Given the description of an element on the screen output the (x, y) to click on. 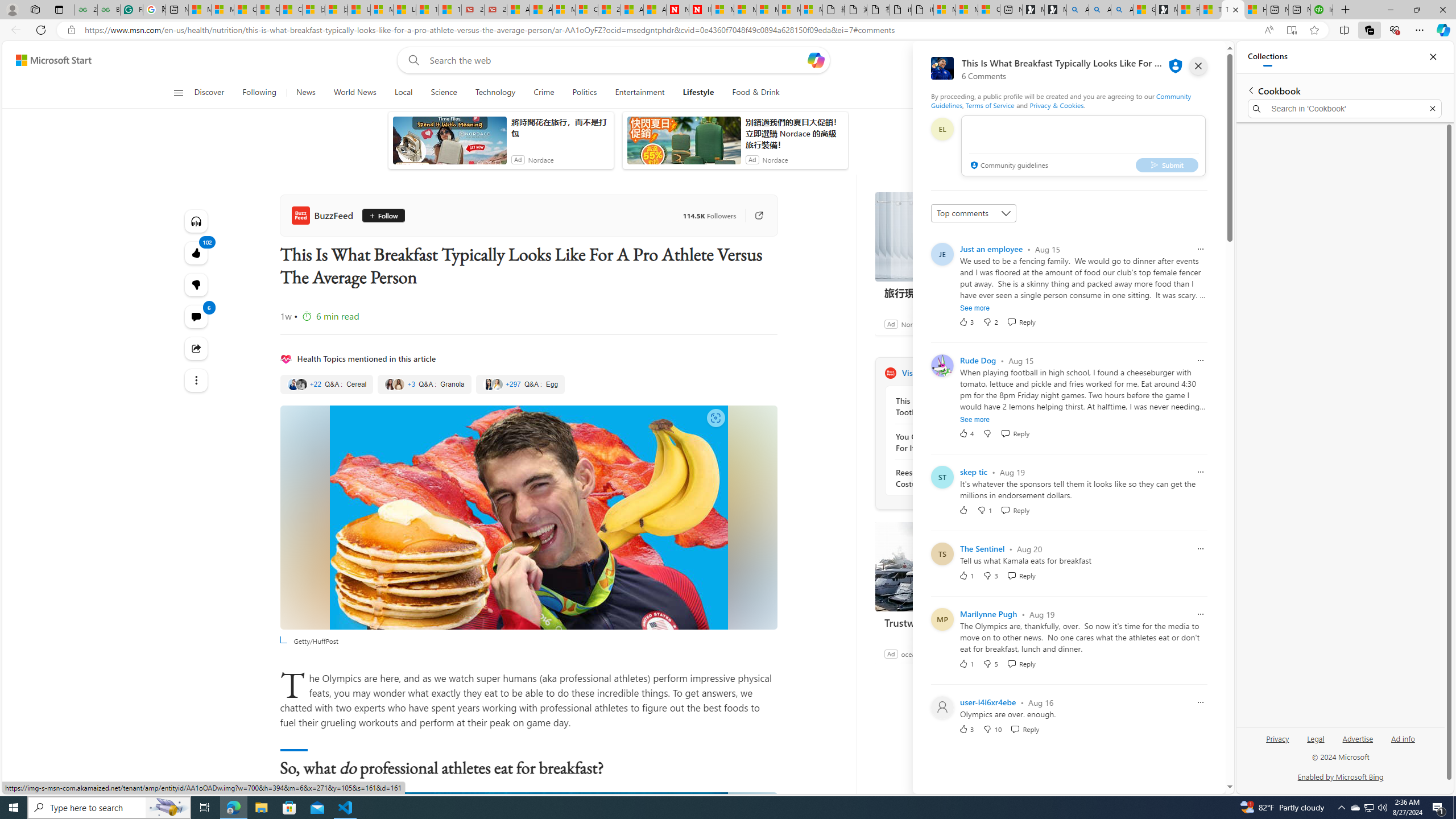
USA TODAY - MSN (359, 9)
Community guidelines (1008, 165)
Marilynne Pugh (988, 613)
Cereal (326, 384)
